Given the description of an element on the screen output the (x, y) to click on. 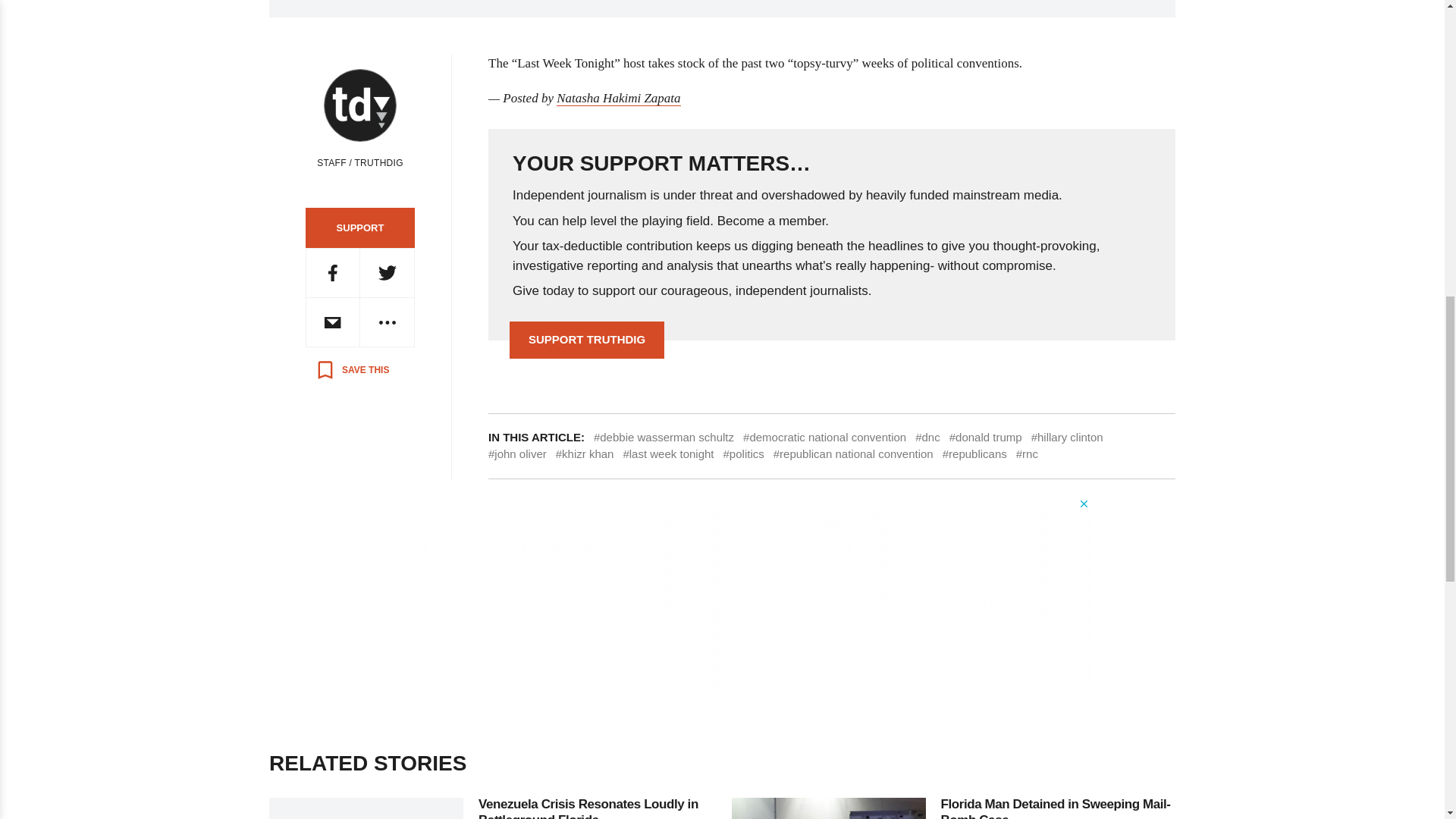
Save to read later (351, 370)
Natasha Hakimi Zapata (617, 98)
